Given the description of an element on the screen output the (x, y) to click on. 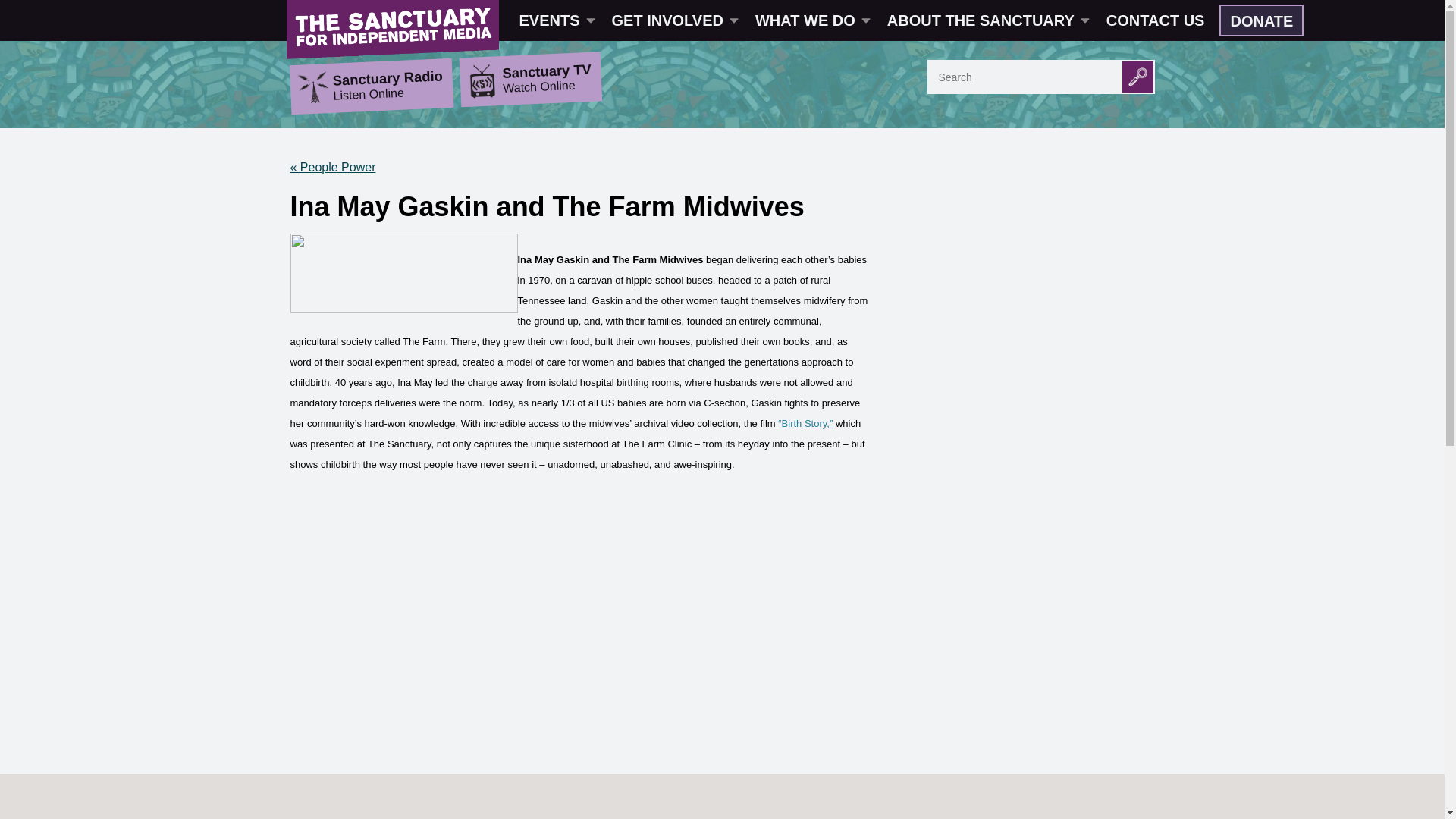
GET INVOLVED (673, 20)
EVENTS (555, 20)
WHAT WE DO (811, 20)
ABOUT THE SANCTUARY (987, 20)
